Given the description of an element on the screen output the (x, y) to click on. 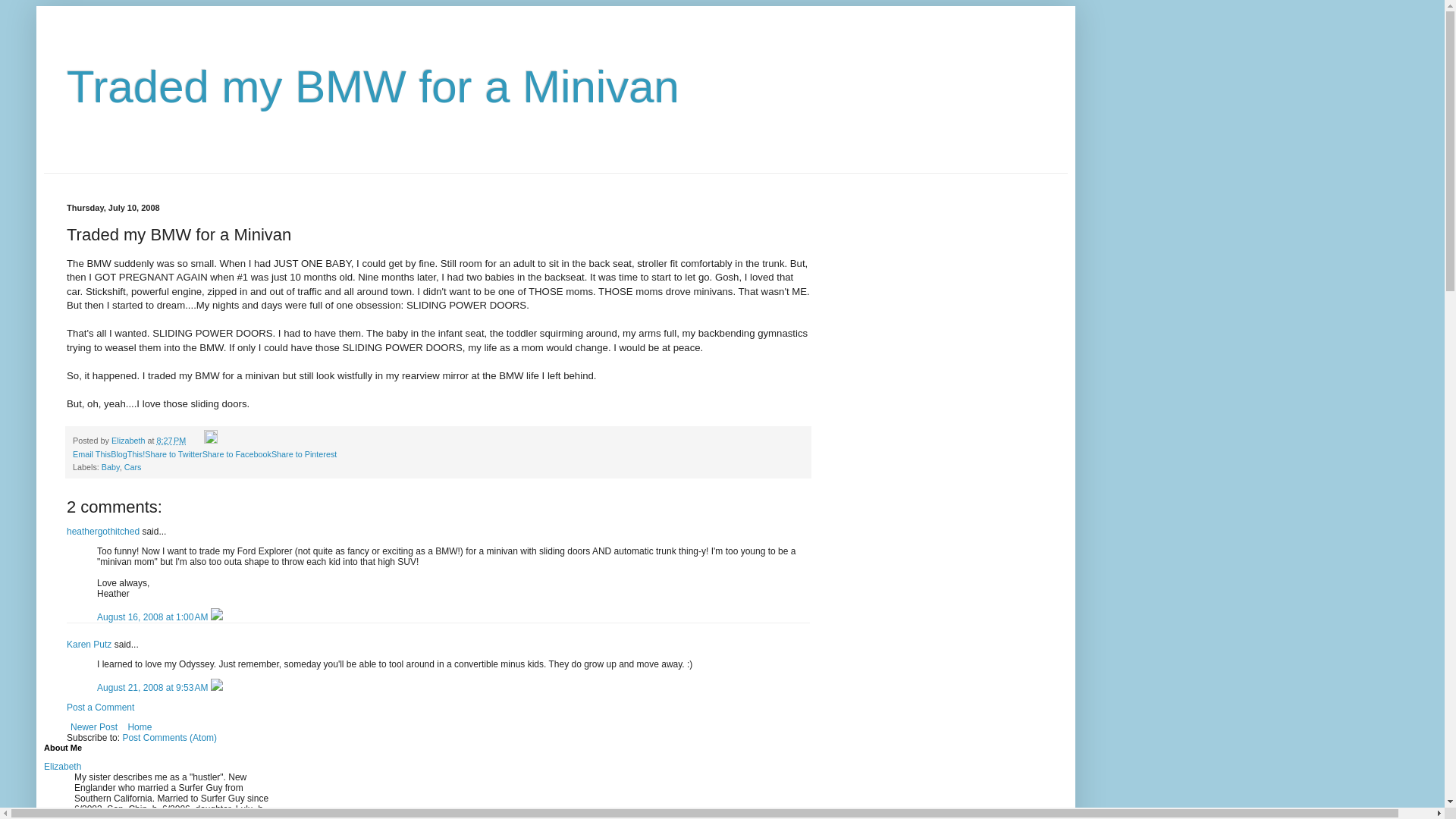
Delete Comment (216, 687)
Email Post (195, 440)
Email This (91, 453)
Share to Facebook (236, 453)
Delete Comment (216, 616)
Share to Pinterest (303, 453)
Elizabeth (129, 440)
Home (139, 726)
comment permalink (154, 616)
Email This (91, 453)
Share to Facebook (236, 453)
Baby (110, 466)
BlogThis! (127, 453)
